Given the description of an element on the screen output the (x, y) to click on. 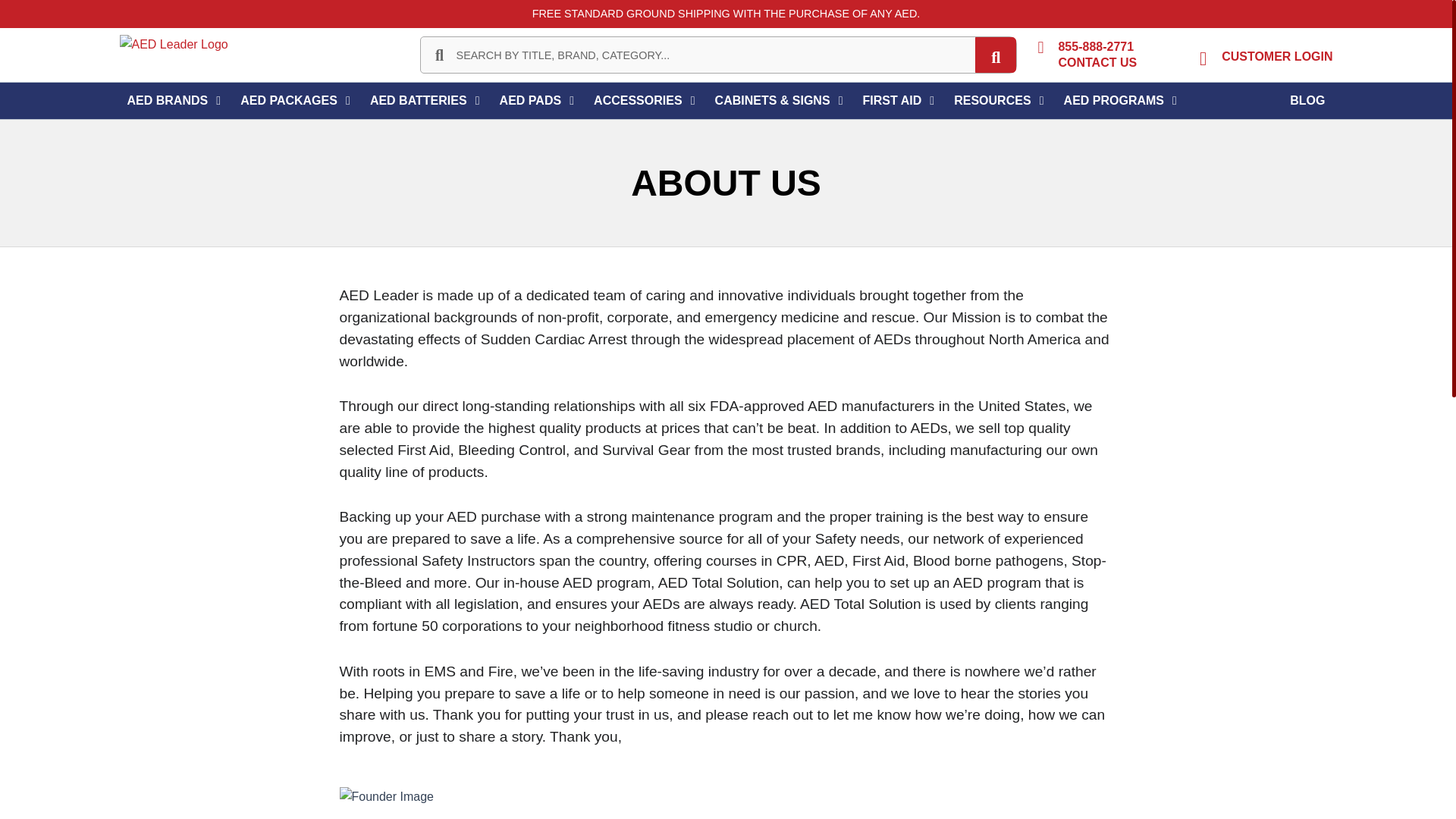
CONTACT US (1097, 62)
CUSTOMER LOGIN (1276, 56)
AED BRANDS (168, 101)
855-888-2771 (1096, 46)
